Given the description of an element on the screen output the (x, y) to click on. 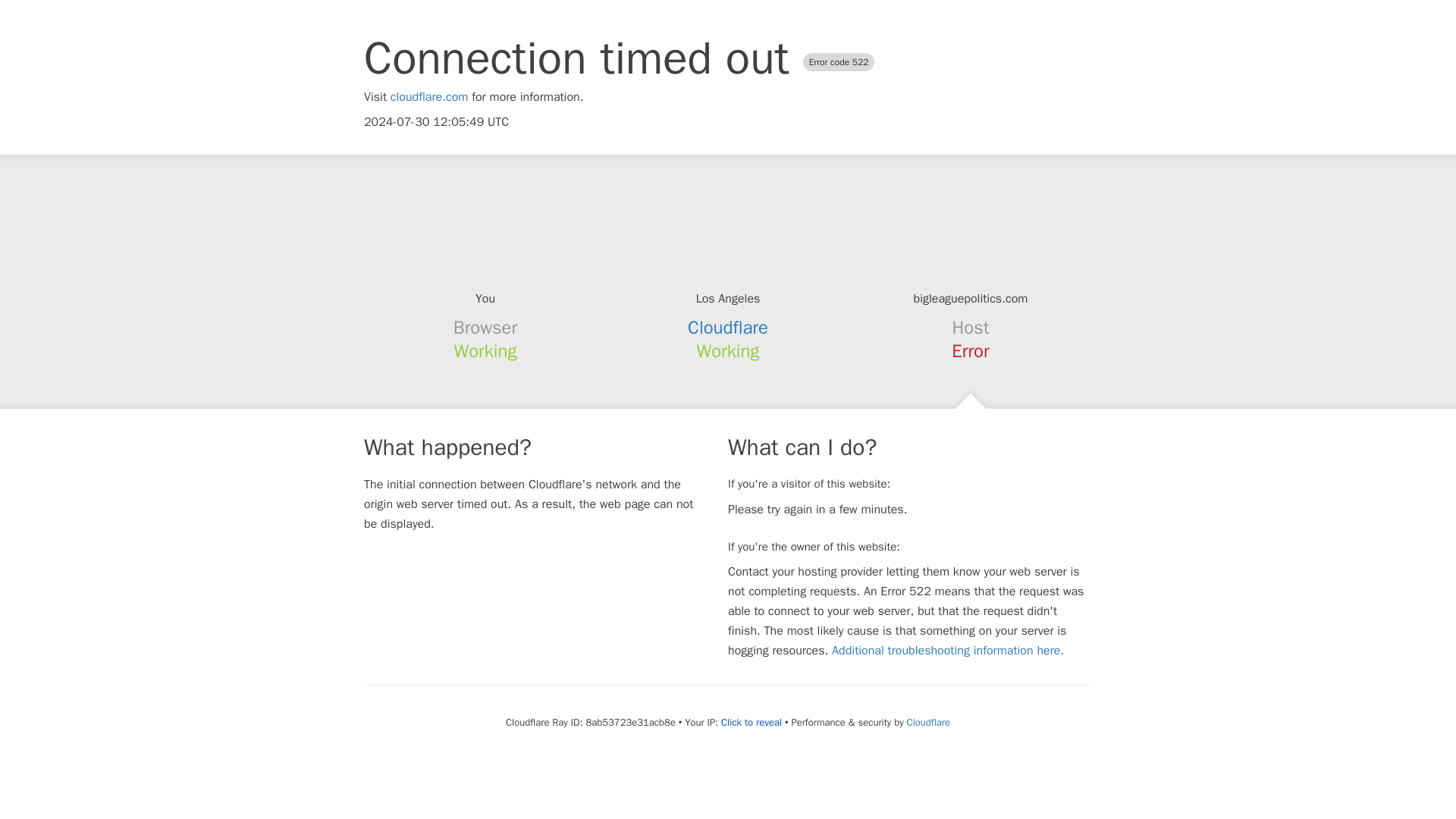
Cloudflare (928, 721)
Cloudflare (727, 327)
cloudflare.com (429, 96)
Additional troubleshooting information here. (947, 650)
Click to reveal (750, 722)
